Given the description of an element on the screen output the (x, y) to click on. 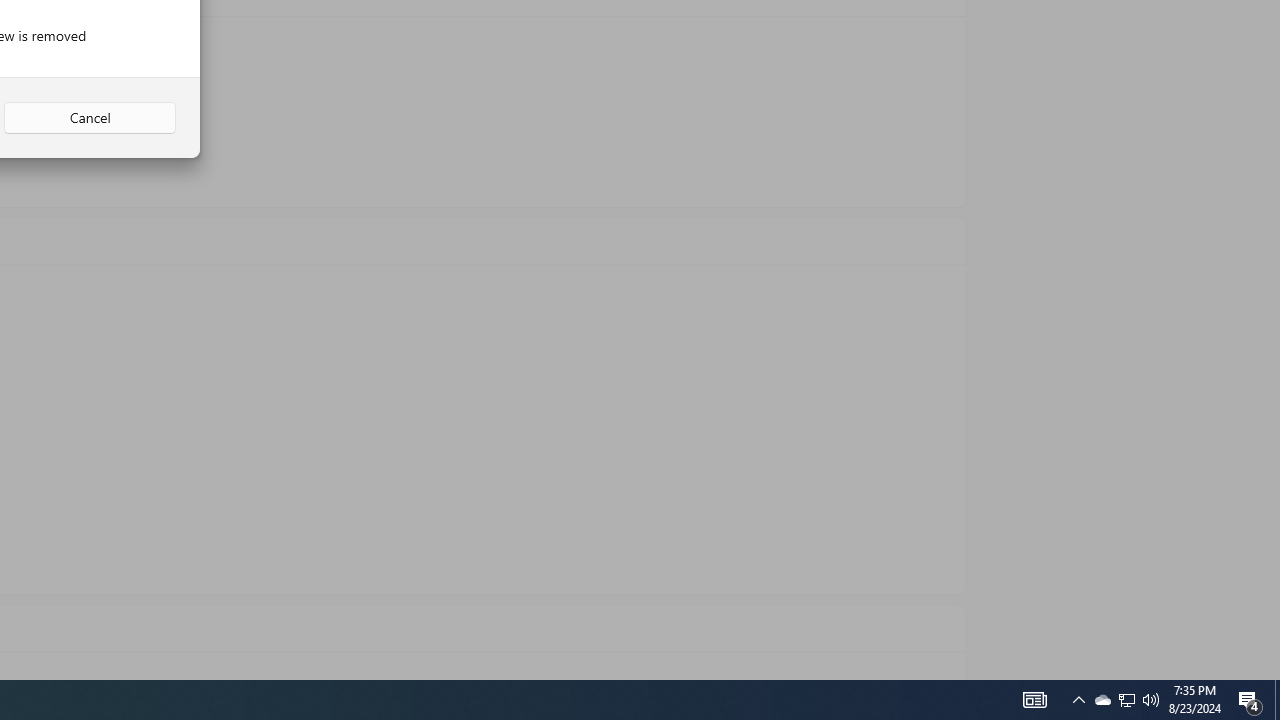
Cancel (89, 117)
